Given the description of an element on the screen output the (x, y) to click on. 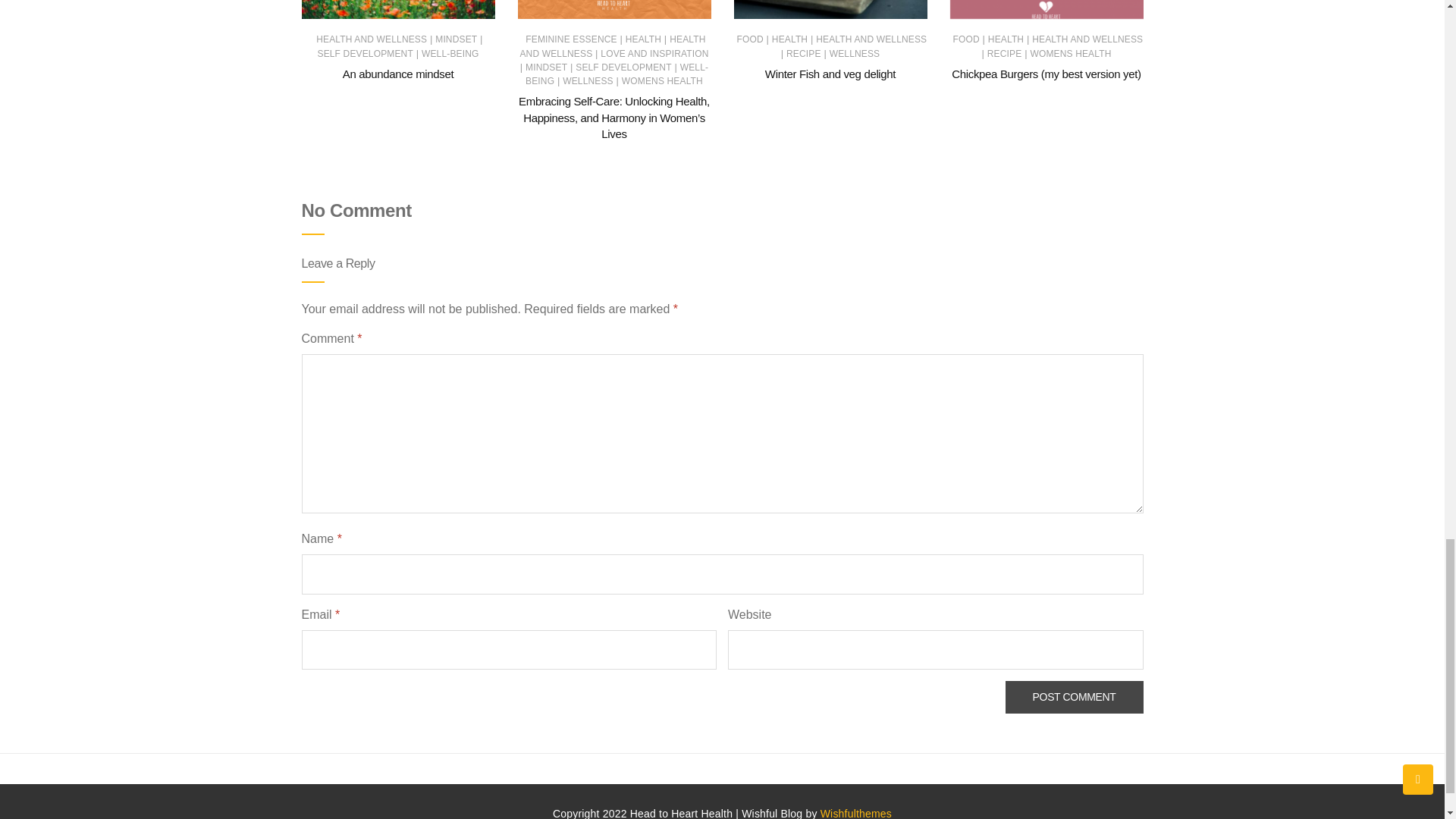
An abundance mindset (397, 73)
Winter Fish and veg delight (830, 73)
Post Comment (1074, 696)
